Given the description of an element on the screen output the (x, y) to click on. 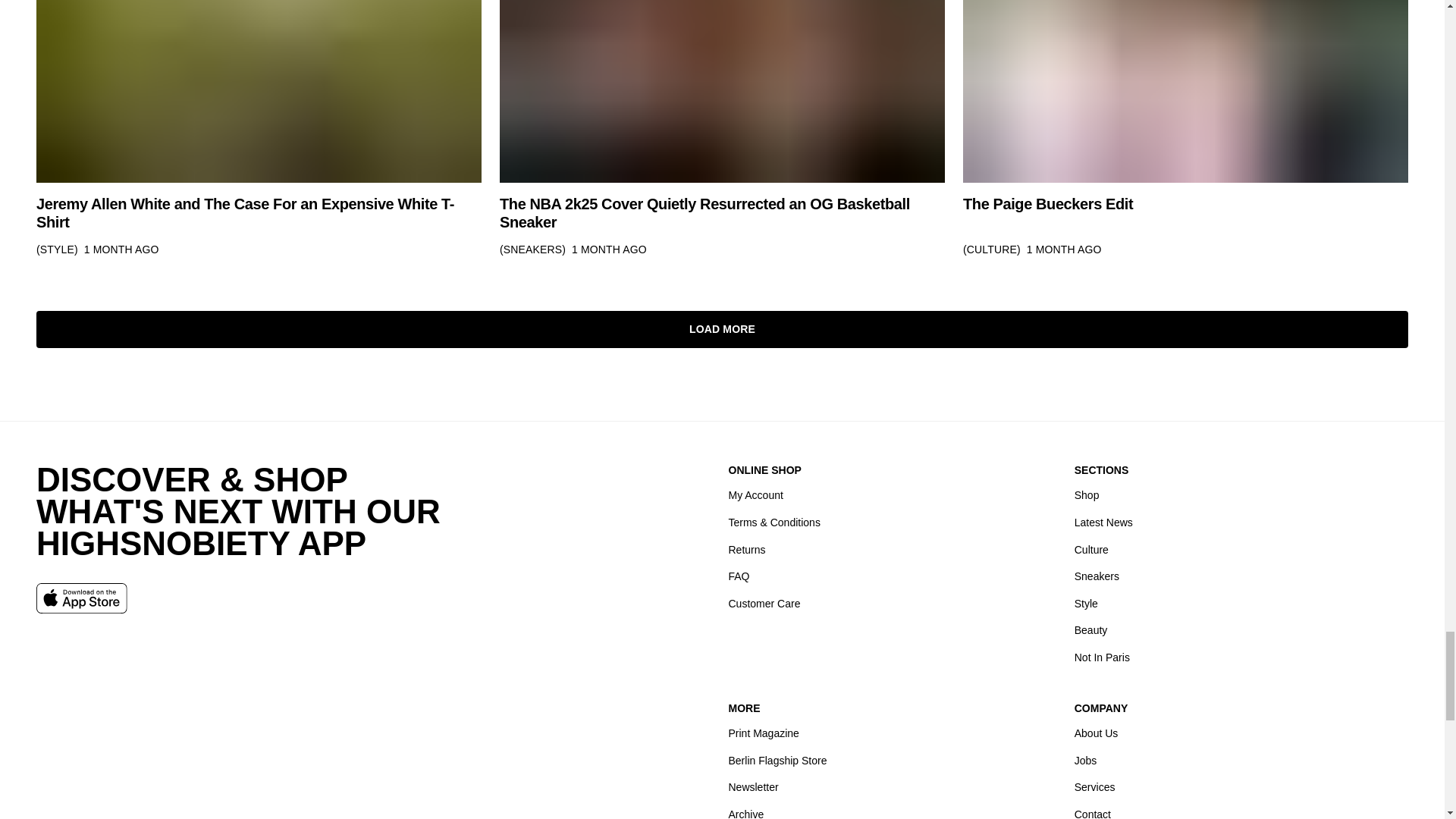
Shop (1086, 495)
Beauty (1091, 630)
Style (1085, 603)
FAQ (738, 576)
My Account (755, 495)
Culture (1091, 549)
Latest News (1103, 522)
Sneakers (1096, 576)
Returns (746, 549)
Customer Care (763, 603)
